Given the description of an element on the screen output the (x, y) to click on. 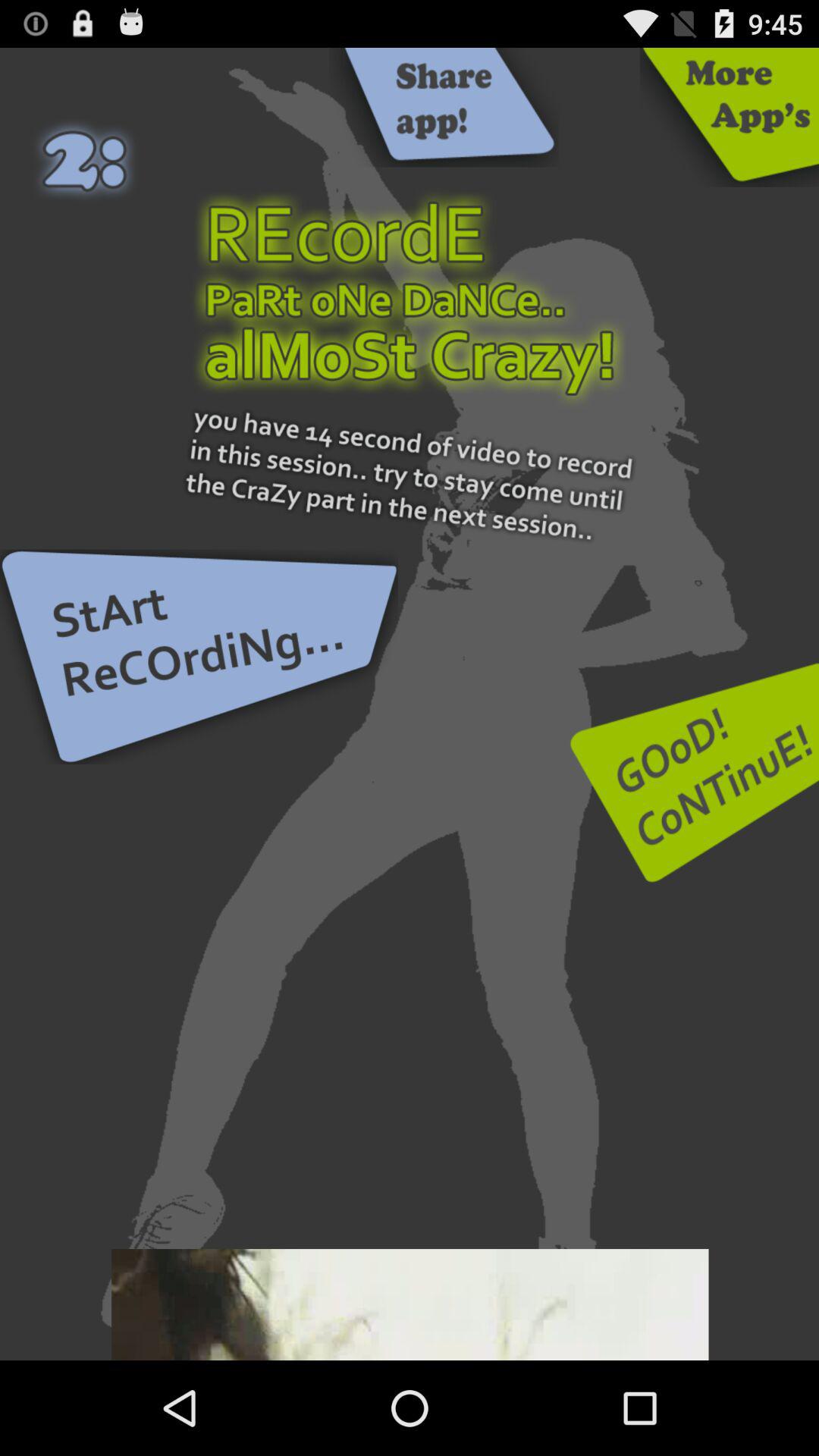
share the app (443, 107)
